Given the description of an element on the screen output the (x, y) to click on. 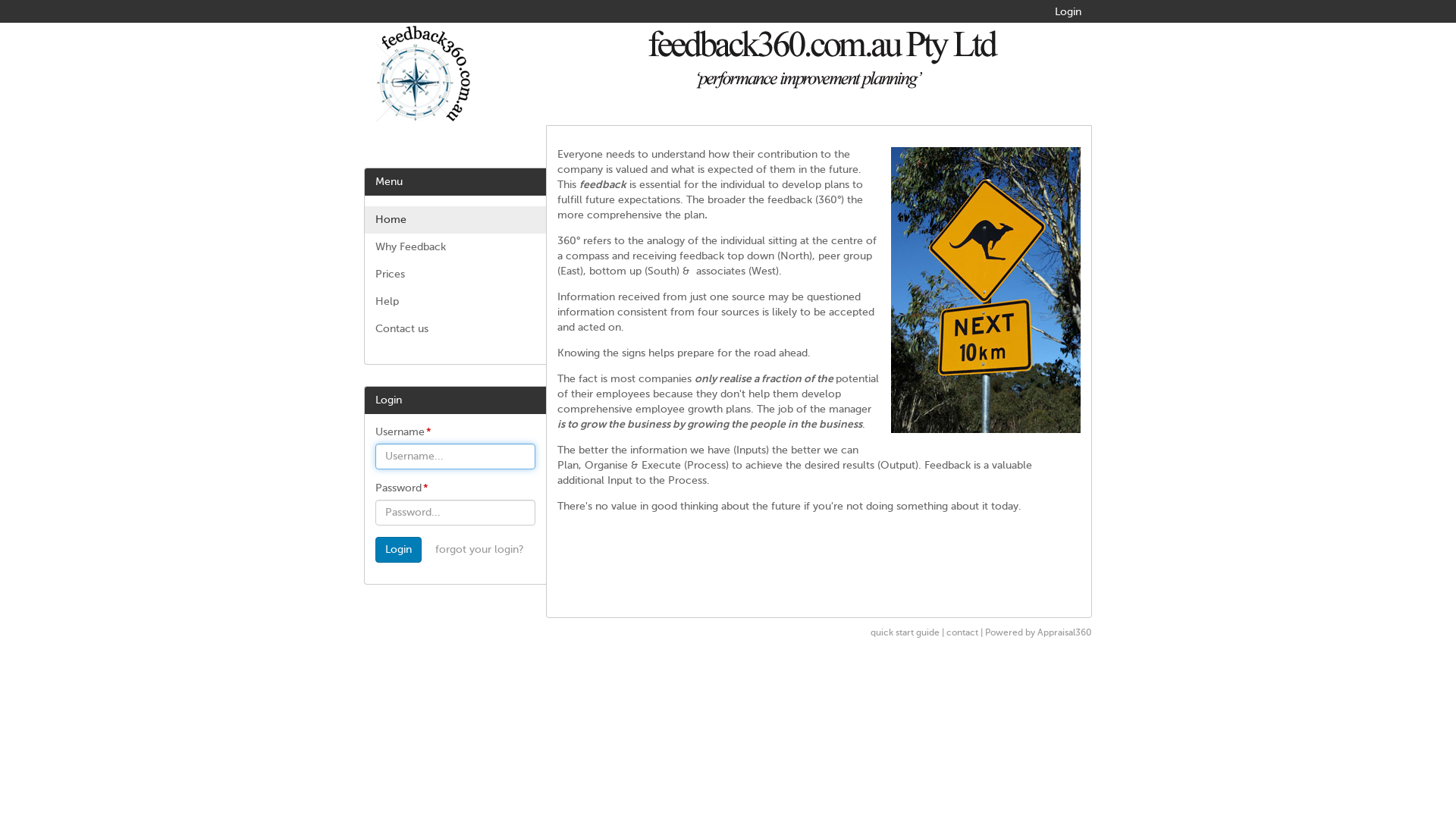
contact Element type: text (962, 632)
Contact us Element type: text (455, 328)
quick start guide Element type: text (904, 632)
360 degree feedback from feedback360.com.au Element type: hover (985, 290)
Home Element type: text (455, 219)
Why Feedback Element type: text (455, 246)
forgot your login? Element type: text (479, 549)
Help Element type: text (455, 301)
Appraisal360 Element type: text (1064, 632)
Login Element type: text (398, 549)
Prices Element type: text (455, 274)
Login Element type: text (1067, 11)
